Given the description of an element on the screen output the (x, y) to click on. 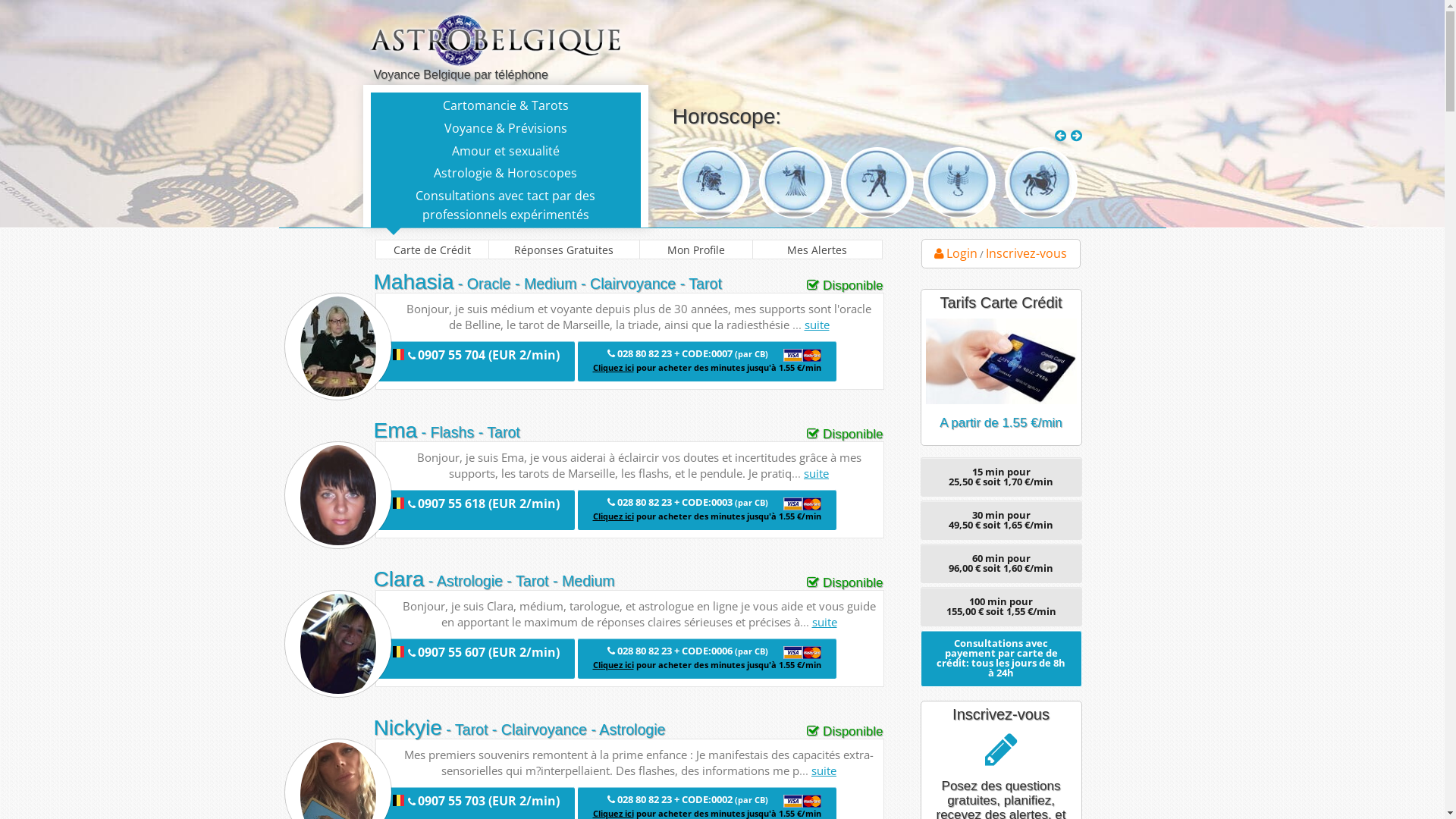
Inscrivez-vous Element type: text (1025, 252)
Mahasia - Oracle - Medium - Clairvoyance - Tarot Element type: text (547, 281)
Lion Element type: hover (713, 183)
0907 55 704 (EUR 2/min) Element type: text (475, 360)
Login Element type: text (955, 252)
Nickyie - Tarot - Clairvoyance - Astrologie Element type: text (519, 727)
Ema - Flashs - Tarot Element type: text (446, 430)
suite Element type: text (823, 621)
Scorpion Element type: hover (959, 183)
Clara - Astrologie - Tarot - Medium Element type: text (493, 578)
Vierge Element type: hover (795, 183)
0907 55 618 (EUR 2/min) Element type: text (475, 509)
0907 55 607 (EUR 2/min) Element type: text (475, 657)
suite Element type: text (823, 770)
suite Element type: text (815, 472)
Balance Element type: hover (877, 183)
Mes Alertes Element type: text (817, 249)
Sagittaire Element type: hover (1041, 183)
suite Element type: text (815, 324)
Mon Profile Element type: text (695, 249)
